Given the description of an element on the screen output the (x, y) to click on. 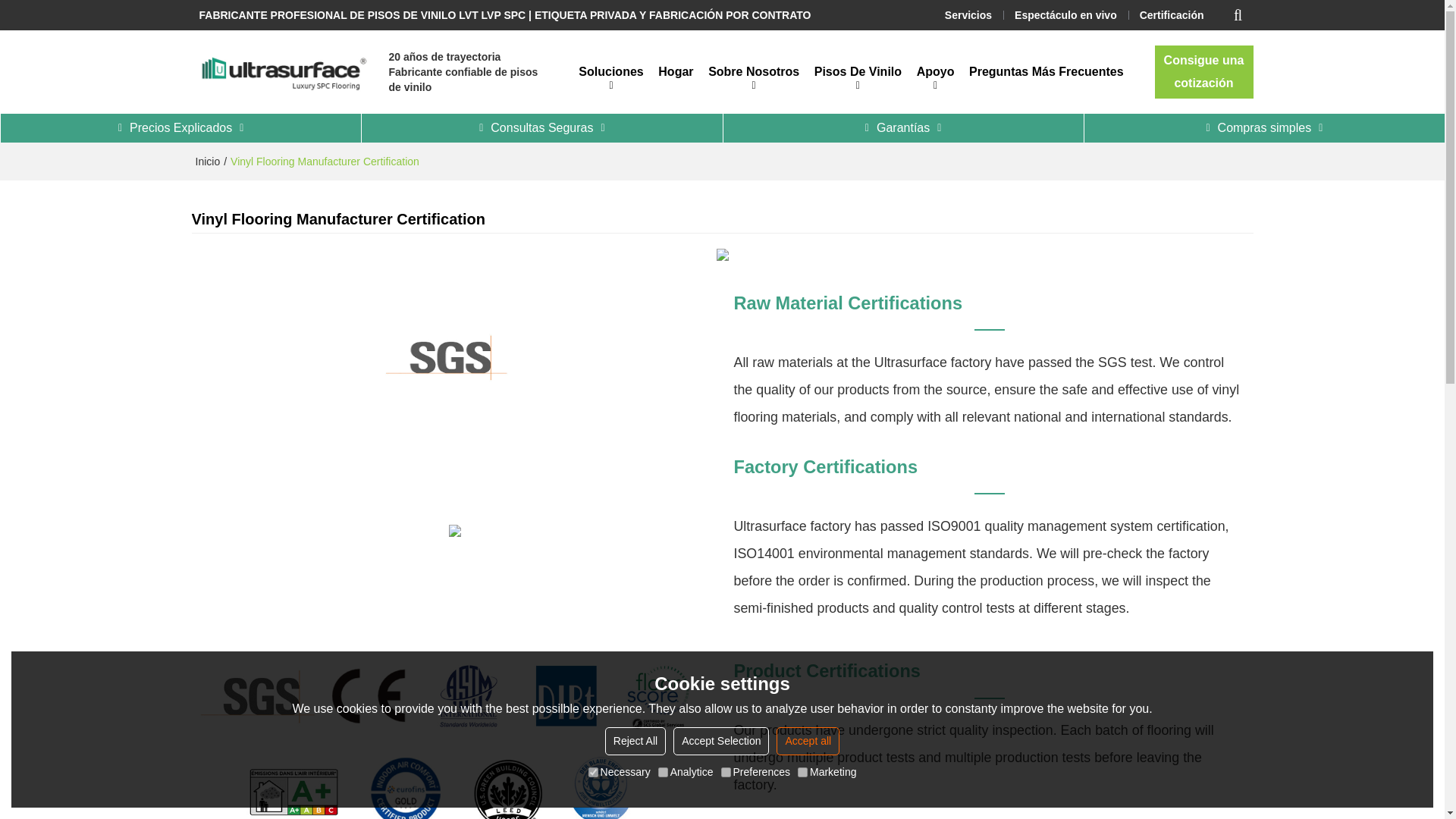
Pisos De Vinilo (857, 71)
Hogar (675, 71)
Soluciones (611, 71)
HANHENT INTERNATIONAL CHINA  CO., LTD. (281, 72)
on (593, 772)
Hogar (675, 71)
Servicios (968, 15)
Sobre nosotros (753, 71)
on (663, 772)
Pisos de vinilo (857, 71)
Soluciones (611, 71)
Servicios (968, 15)
on (802, 772)
Sobre Nosotros (753, 71)
Apoyo (934, 71)
